Given the description of an element on the screen output the (x, y) to click on. 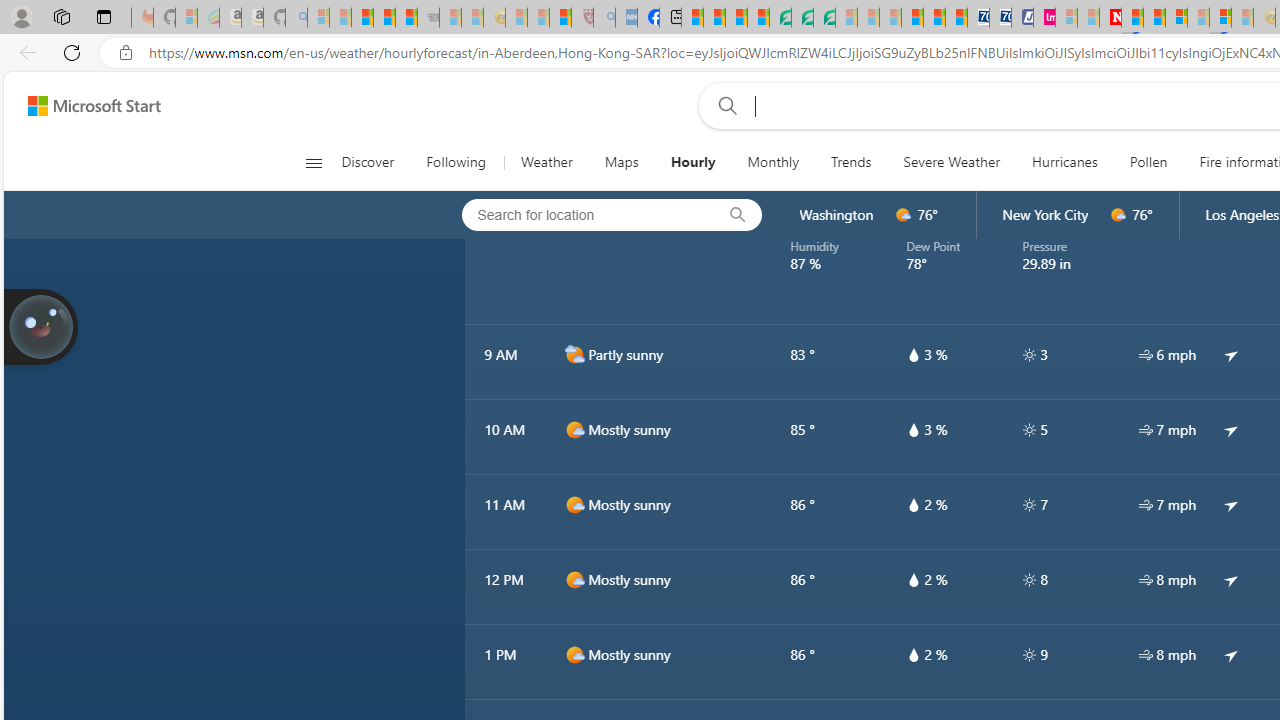
Jobs - lastminute.com Investor Portal (1044, 17)
Search for location (582, 214)
Join us in planting real trees to help our planet! (40, 327)
Trends (850, 162)
locationBar/search (737, 215)
LendingTree - Compare Lenders (780, 17)
Severe Weather (951, 162)
Trends (851, 162)
